Given the description of an element on the screen output the (x, y) to click on. 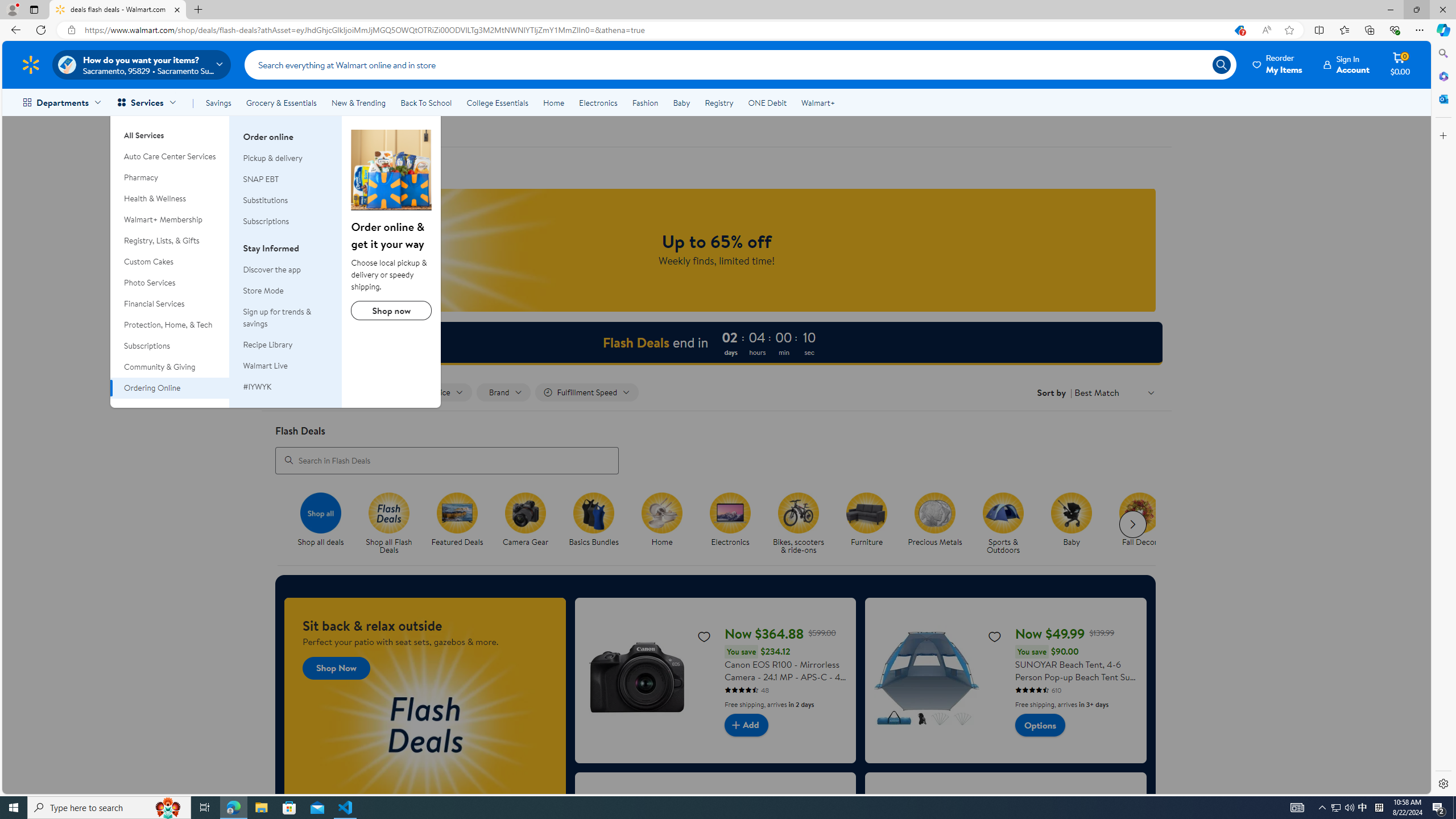
Sports & Outdoors (1008, 524)
Sort by Best Match (1114, 392)
Walmart+ (817, 102)
Furniture (871, 524)
Walmart Homepage (30, 64)
Shop all deals (325, 524)
Community & Giving (170, 366)
Furniture (865, 512)
Featured Deals (456, 512)
SNAP EBT (261, 179)
Filter by Fulfillment Speed not applied, activate to change (587, 392)
Store Mode (263, 290)
Registry (718, 102)
Reorder My Items (1277, 64)
Fall Decor Fall Decor (1139, 519)
